Given the description of an element on the screen output the (x, y) to click on. 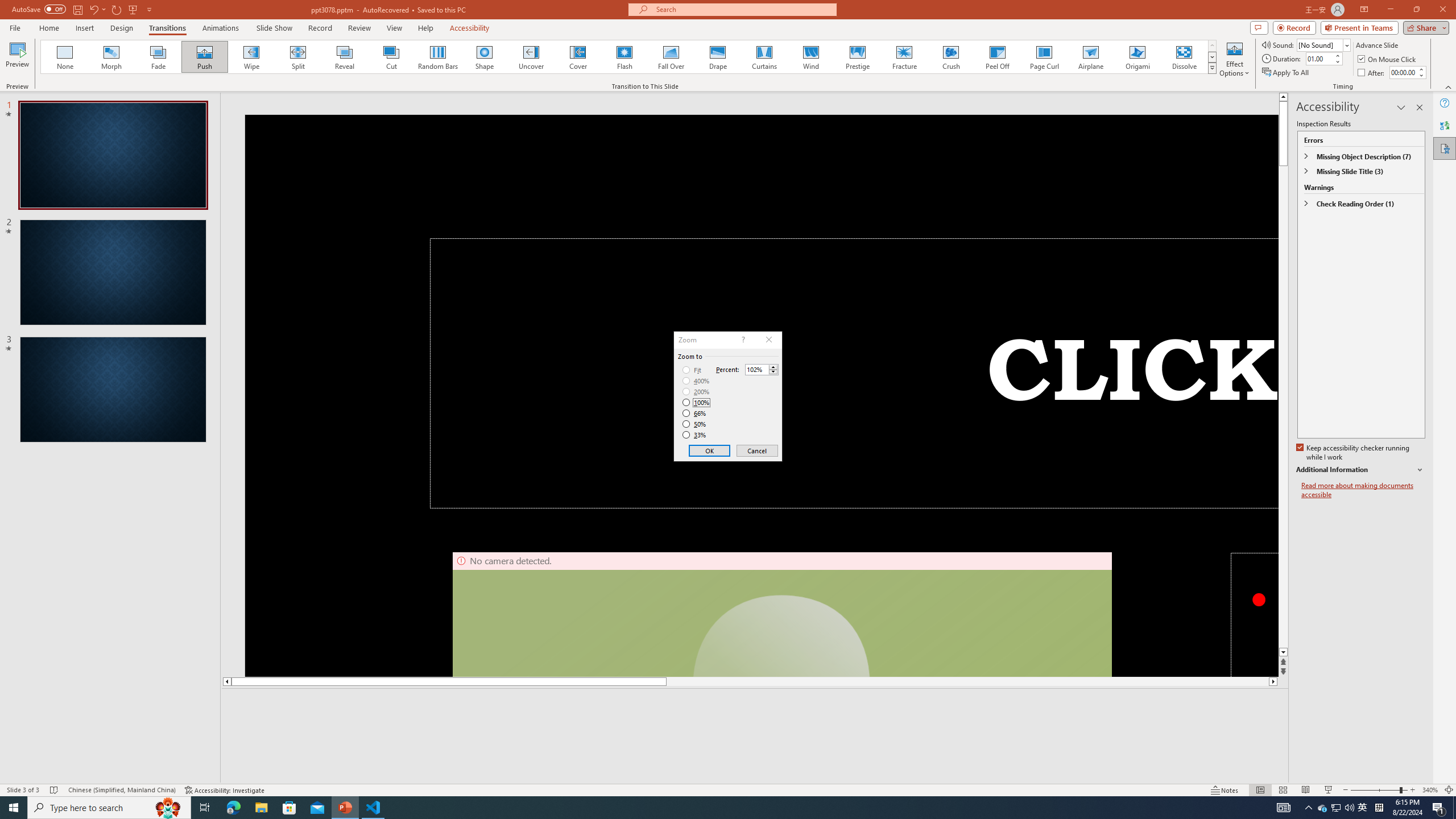
50% (694, 424)
Fade (158, 56)
Percent (756, 369)
After (1403, 72)
Additional Information (1360, 469)
Prestige (857, 56)
Read more about making documents accessible (1363, 489)
Flash (624, 56)
Sound (1324, 44)
Page Curl (1043, 56)
